Given the description of an element on the screen output the (x, y) to click on. 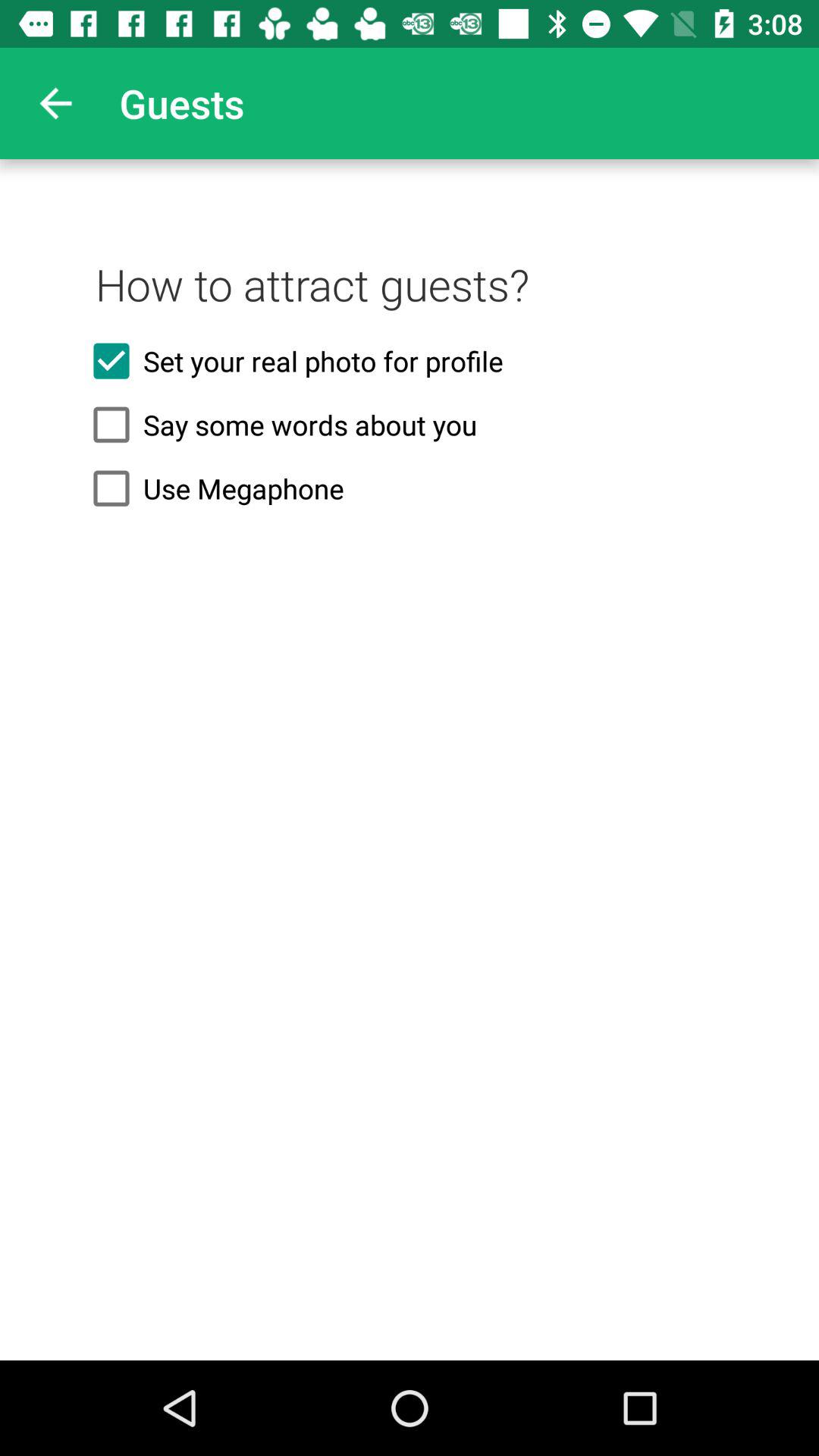
click app next to guests item (55, 103)
